Given the description of an element on the screen output the (x, y) to click on. 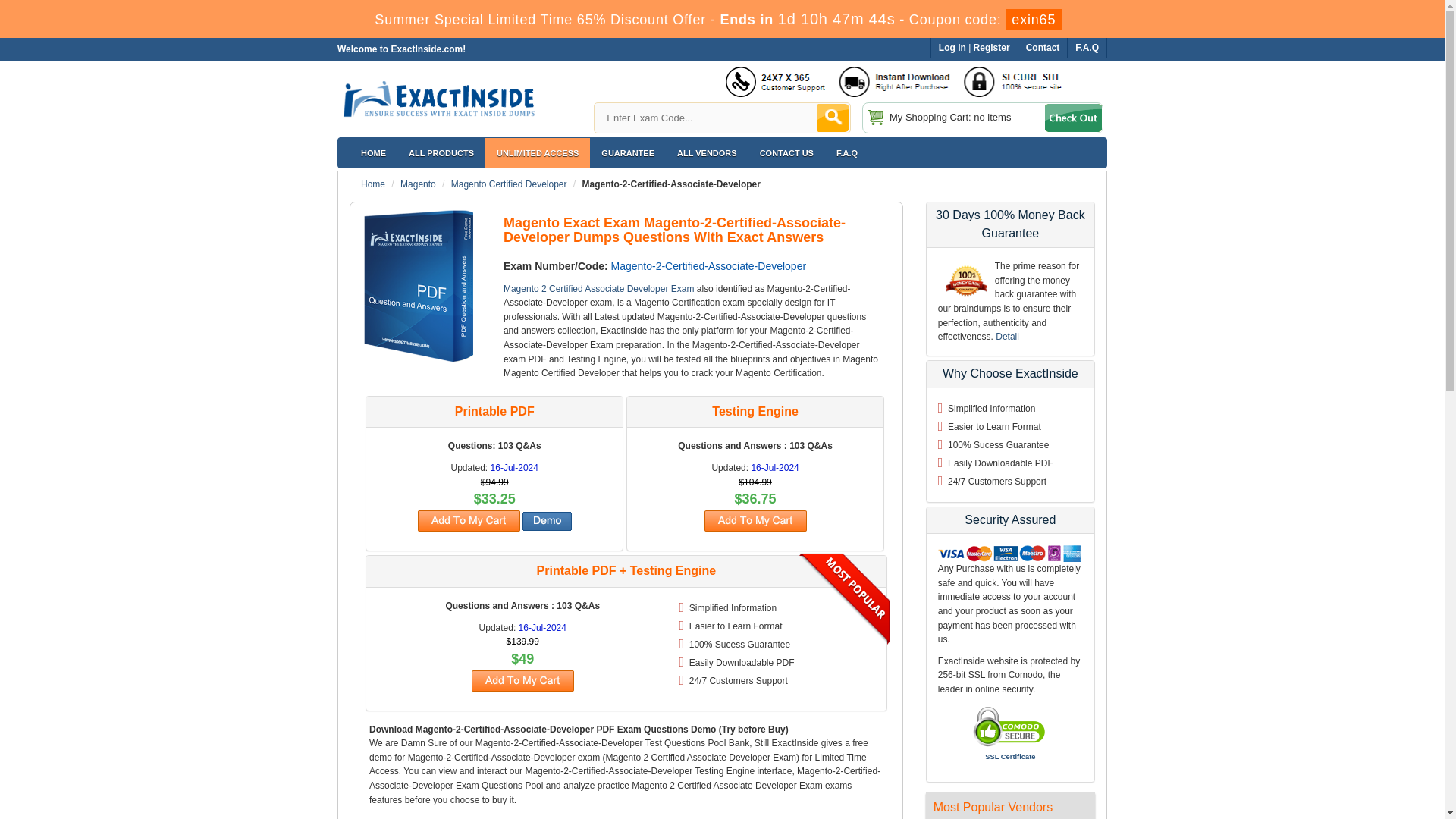
Contact (1042, 47)
F.A.Q (847, 152)
CONTACT US (786, 152)
Magento (417, 184)
Home (373, 184)
ALL VENDORS (706, 152)
Register (992, 47)
HOME (373, 152)
ALL PRODUCTS (440, 152)
SSL Certificate (1010, 756)
Magento Certified Developer (509, 184)
Log In (952, 47)
Magento 2 Certified Associate Developer Exam (598, 288)
GUARANTEE (627, 152)
UNLIMITED ACCESS (536, 152)
